Given the description of an element on the screen output the (x, y) to click on. 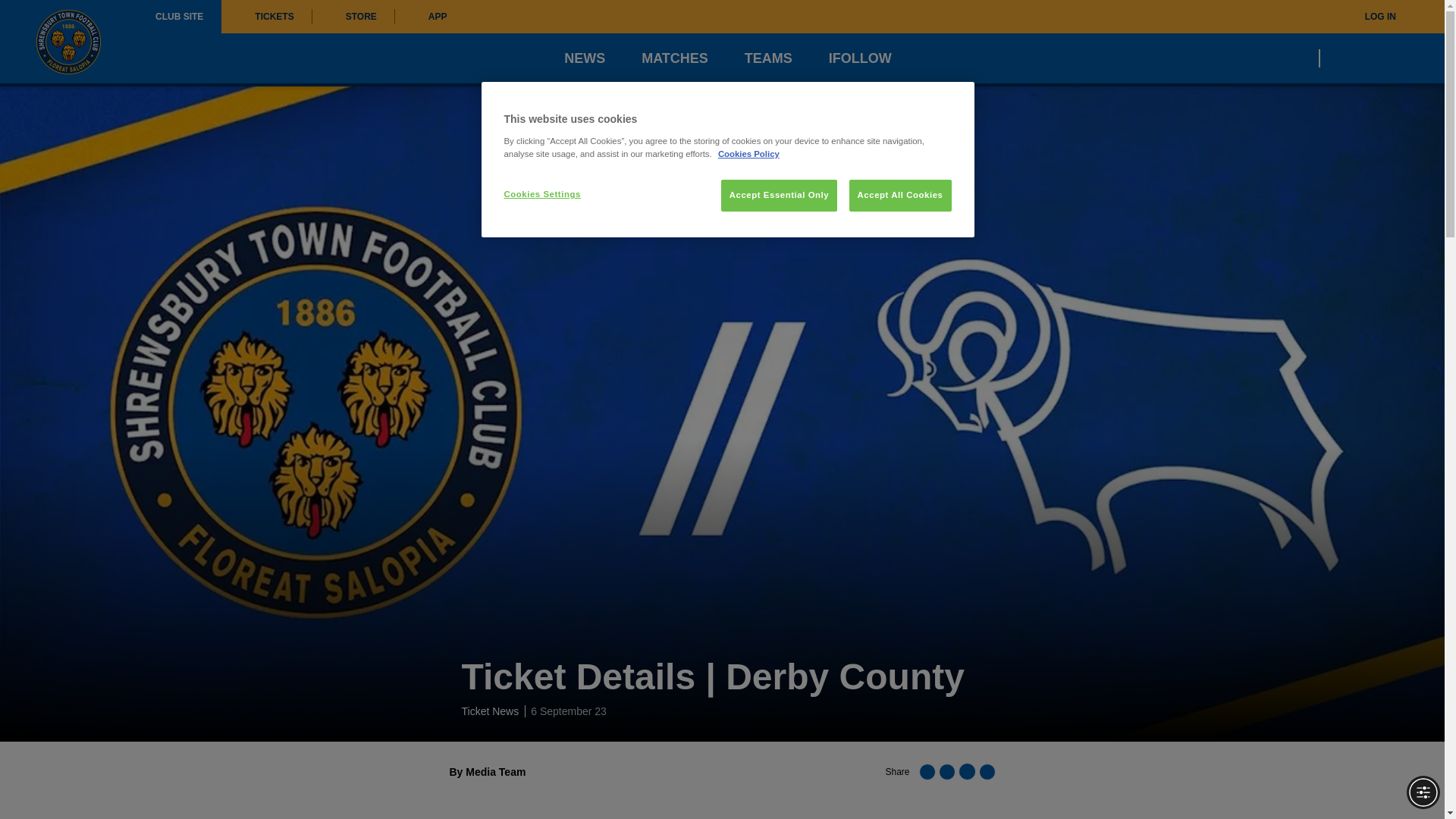
APP (429, 16)
Accessibility Menu (1422, 792)
STORE (353, 16)
TICKETS (266, 16)
Help widget launcher (75, 781)
MATCHES (674, 58)
CLUB SITE (178, 16)
IFOLLOW (859, 58)
TEAMS (768, 58)
